Given the description of an element on the screen output the (x, y) to click on. 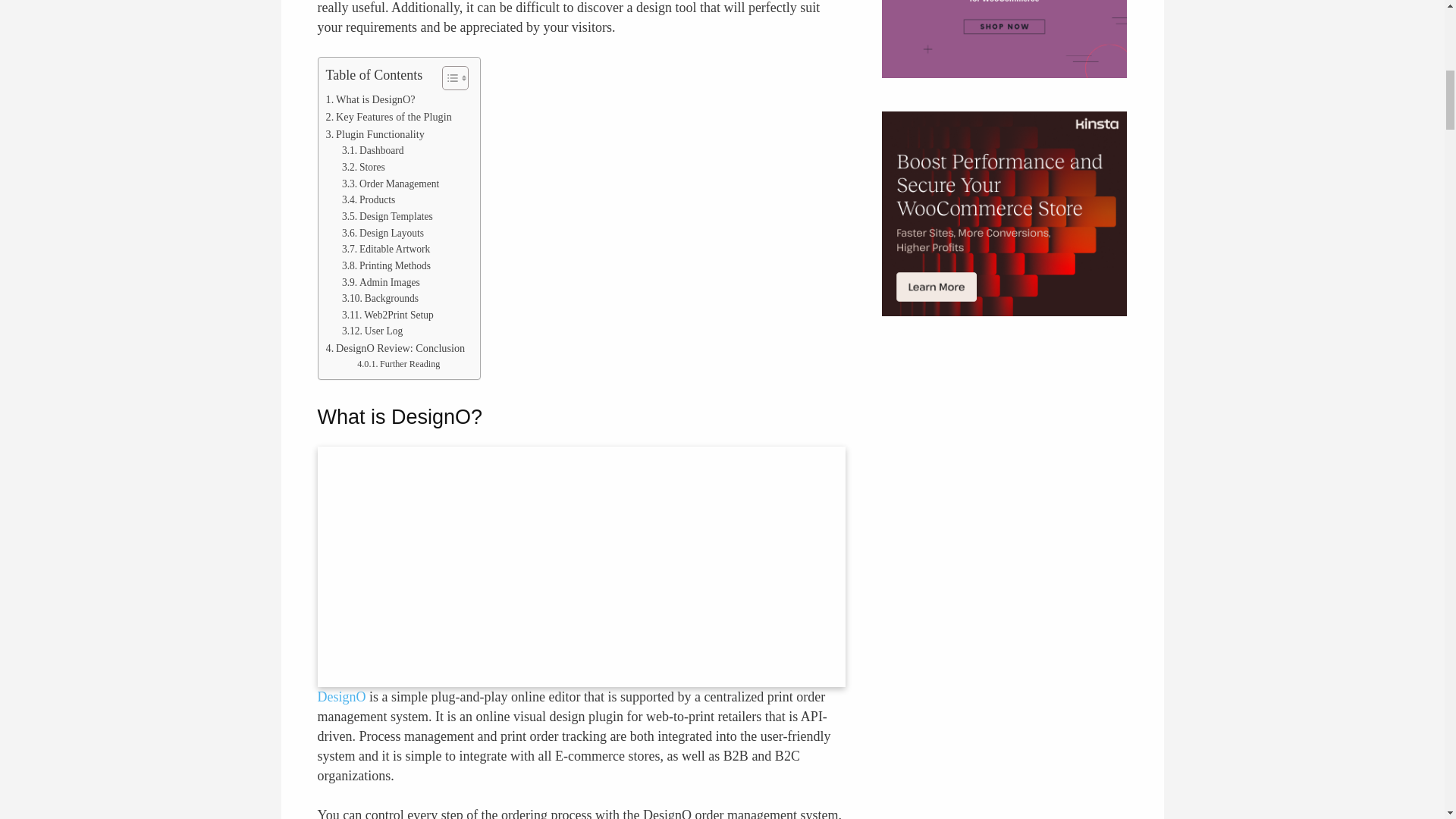
Stores (363, 167)
Plugin Functionality (375, 134)
Products (368, 199)
What is DesignO? (370, 99)
Order Management (390, 184)
Dashboard (373, 150)
Key Features of the Plugin (388, 117)
